Given the description of an element on the screen output the (x, y) to click on. 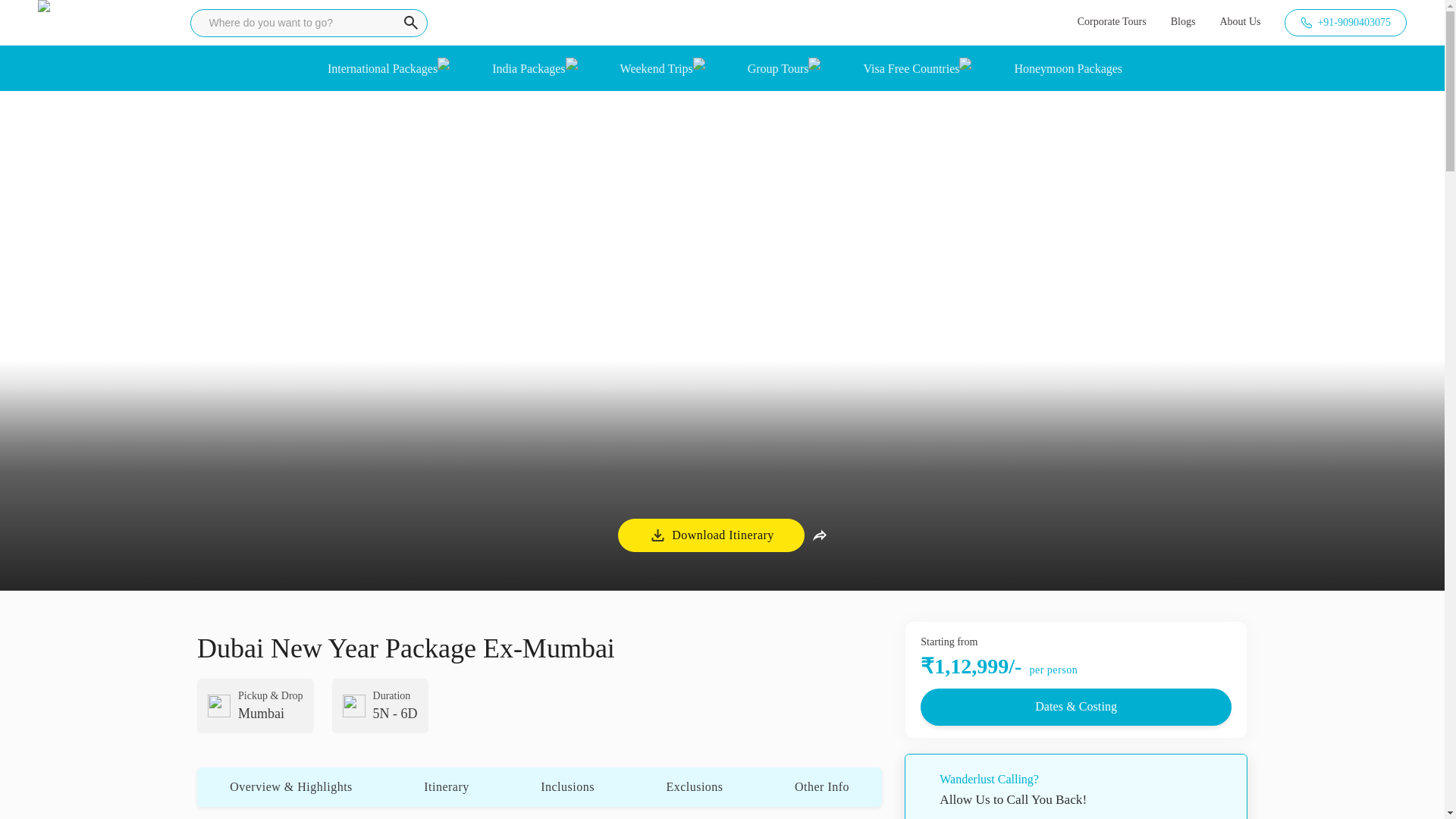
About Us (1240, 22)
Corporate Tours (1112, 22)
Weekend Trips (656, 67)
International Packages (382, 67)
India Packages (528, 67)
Group Tours (778, 67)
Blogs (1182, 22)
